Given the description of an element on the screen output the (x, y) to click on. 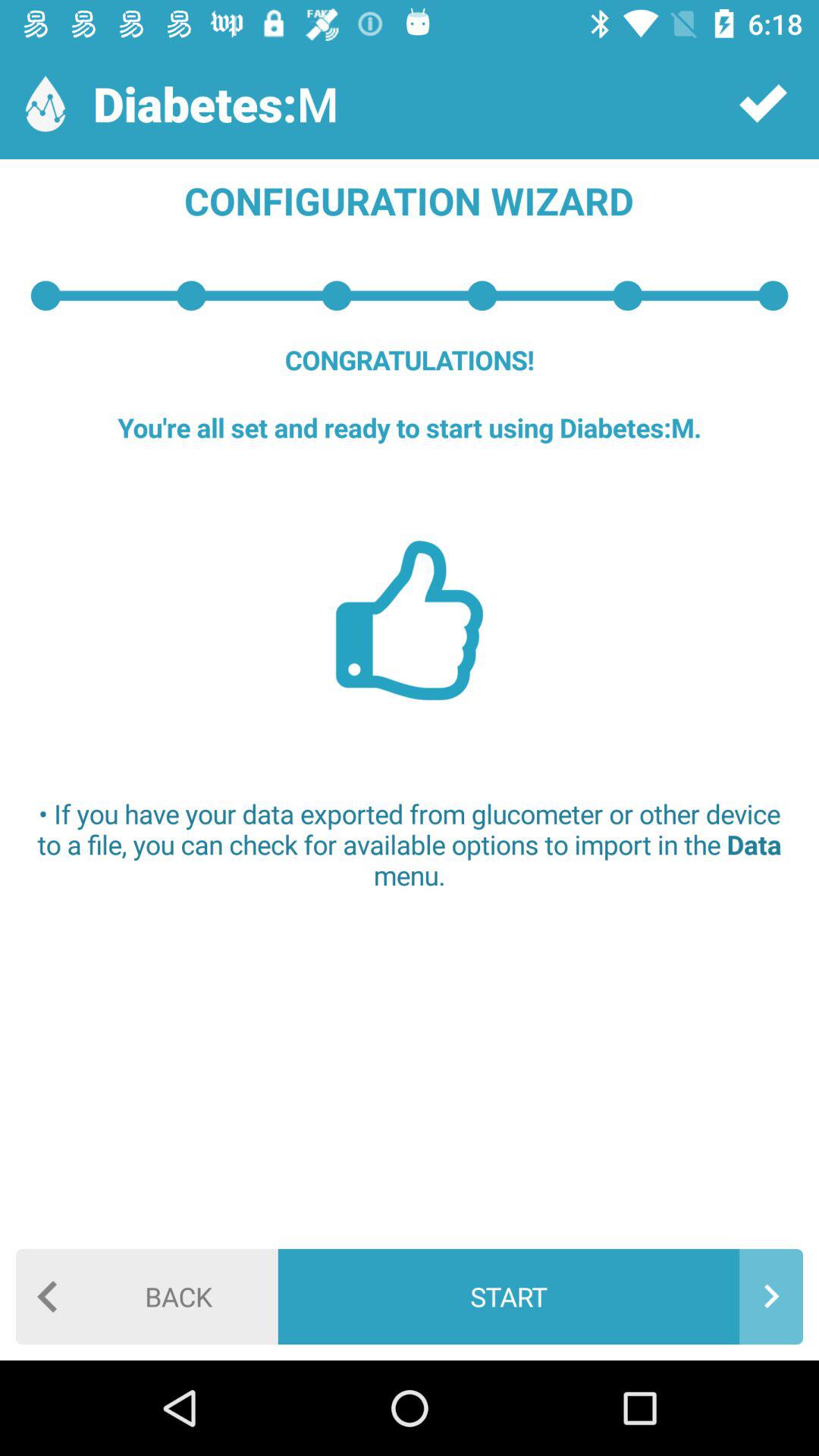
turn off the back (146, 1296)
